Given the description of an element on the screen output the (x, y) to click on. 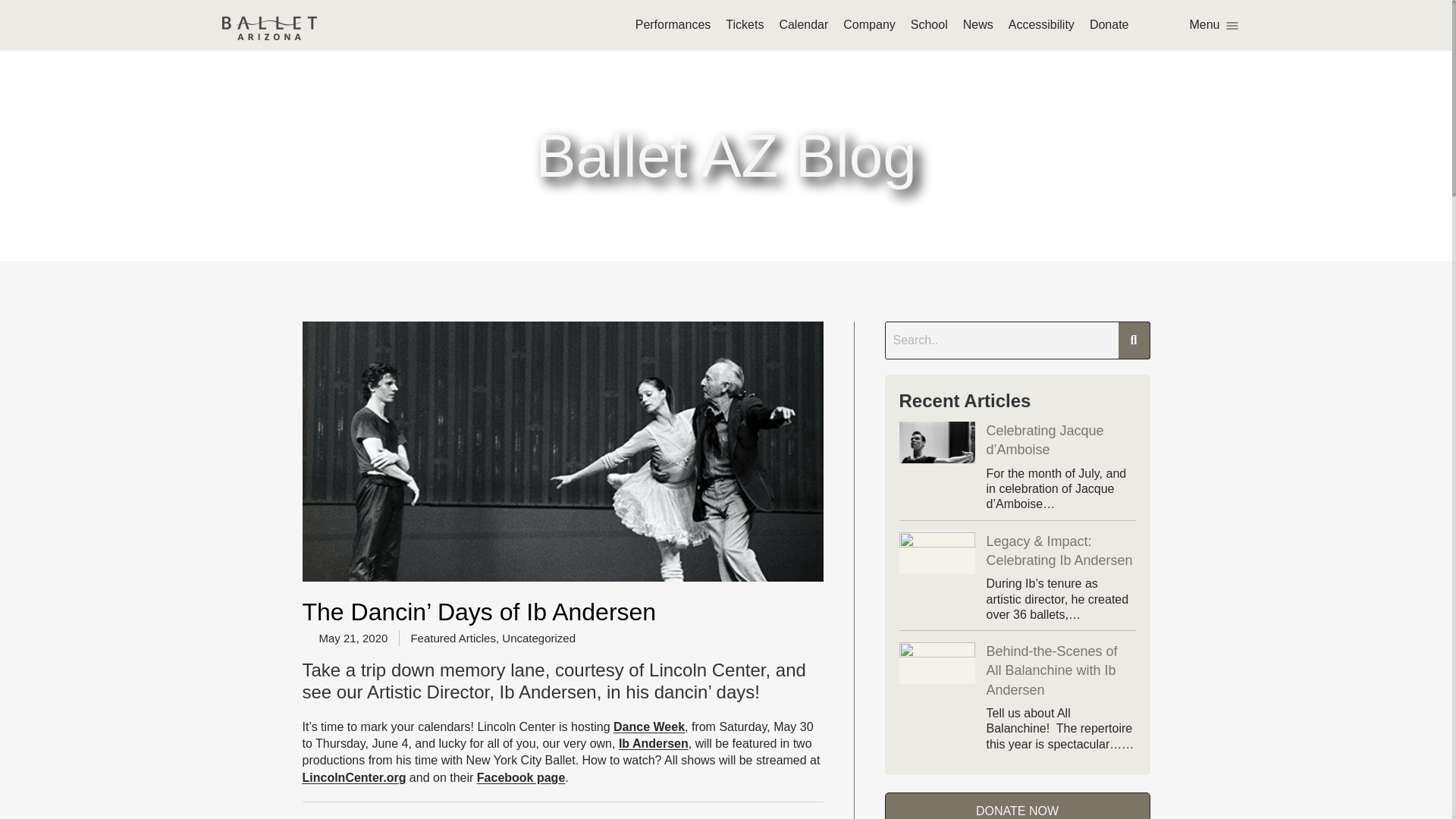
Uncategorized (538, 637)
Accessibility (1041, 24)
Ib Andersen (653, 743)
Facebook page (520, 777)
Featured Articles (453, 637)
Tickets (743, 24)
Donate (1109, 24)
Calendar (803, 24)
Menu (1213, 24)
LincolnCenter.org (353, 777)
Dance Week (648, 726)
School (929, 24)
Company (869, 24)
Performances (672, 24)
May 21, 2020 (344, 637)
